Given the description of an element on the screen output the (x, y) to click on. 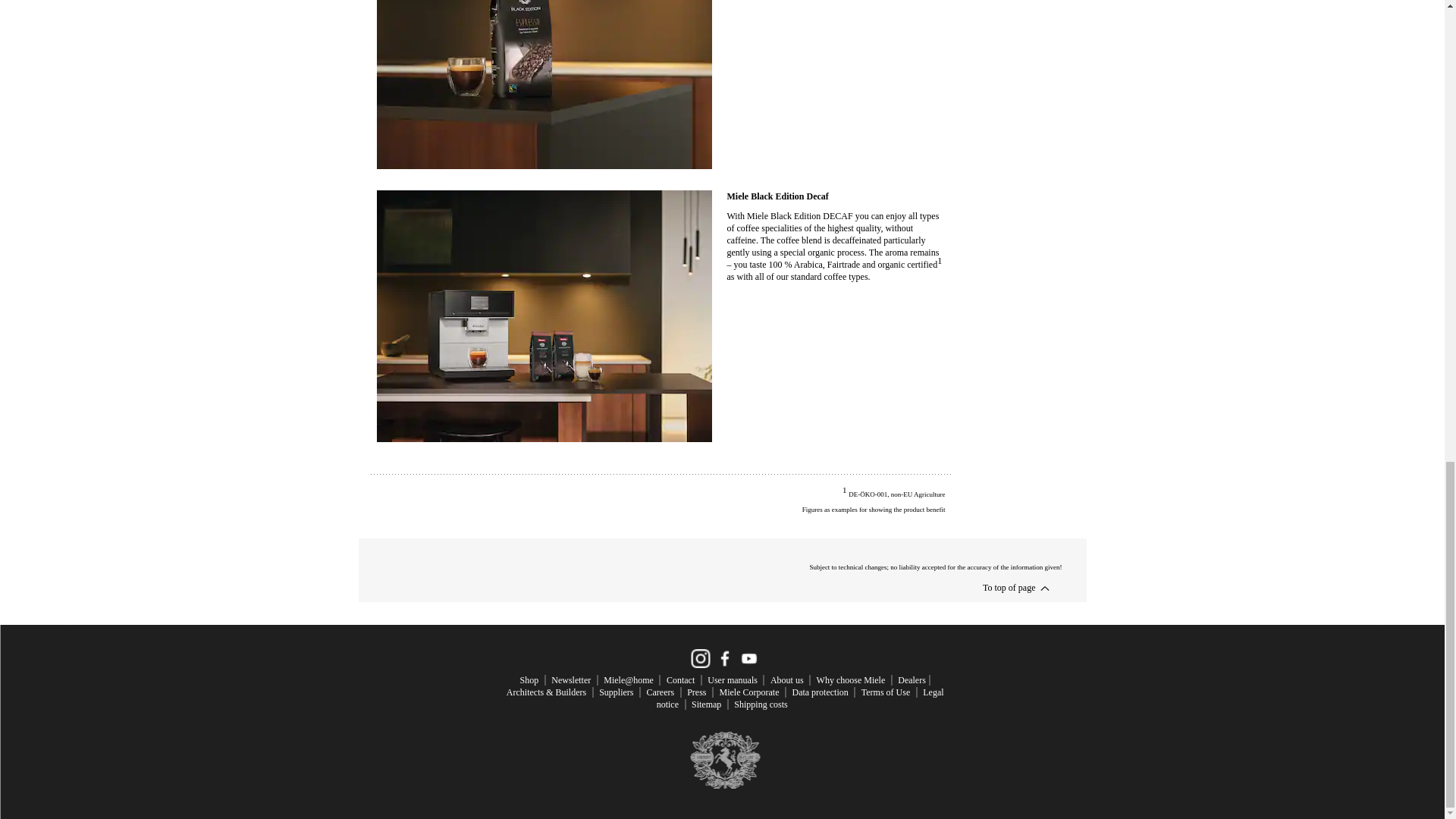
About us (786, 679)
Contact (680, 679)
User manuals (732, 679)
Newsletter (571, 679)
Data protection (819, 692)
Legal notice (799, 698)
Suppliers (615, 692)
Shop (528, 679)
Terms of Use (885, 692)
Careers (660, 692)
Miele Corporate (748, 692)
Dealers (912, 679)
Why choose Miele (850, 679)
To top of page (1008, 587)
Press (696, 692)
